Given the description of an element on the screen output the (x, y) to click on. 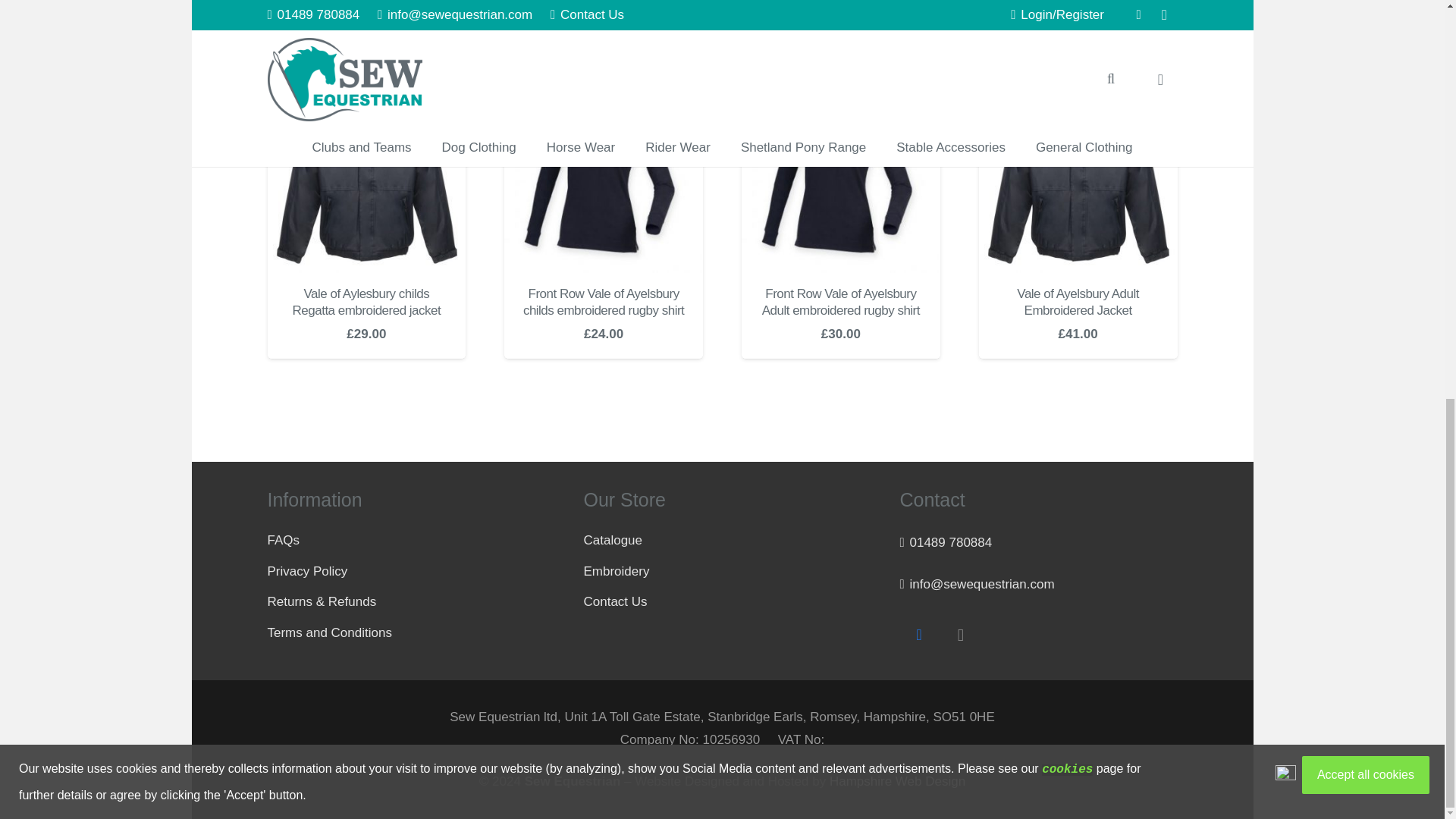
Facebook (918, 634)
Back to top (1413, 70)
Instagram (959, 634)
